Given the description of an element on the screen output the (x, y) to click on. 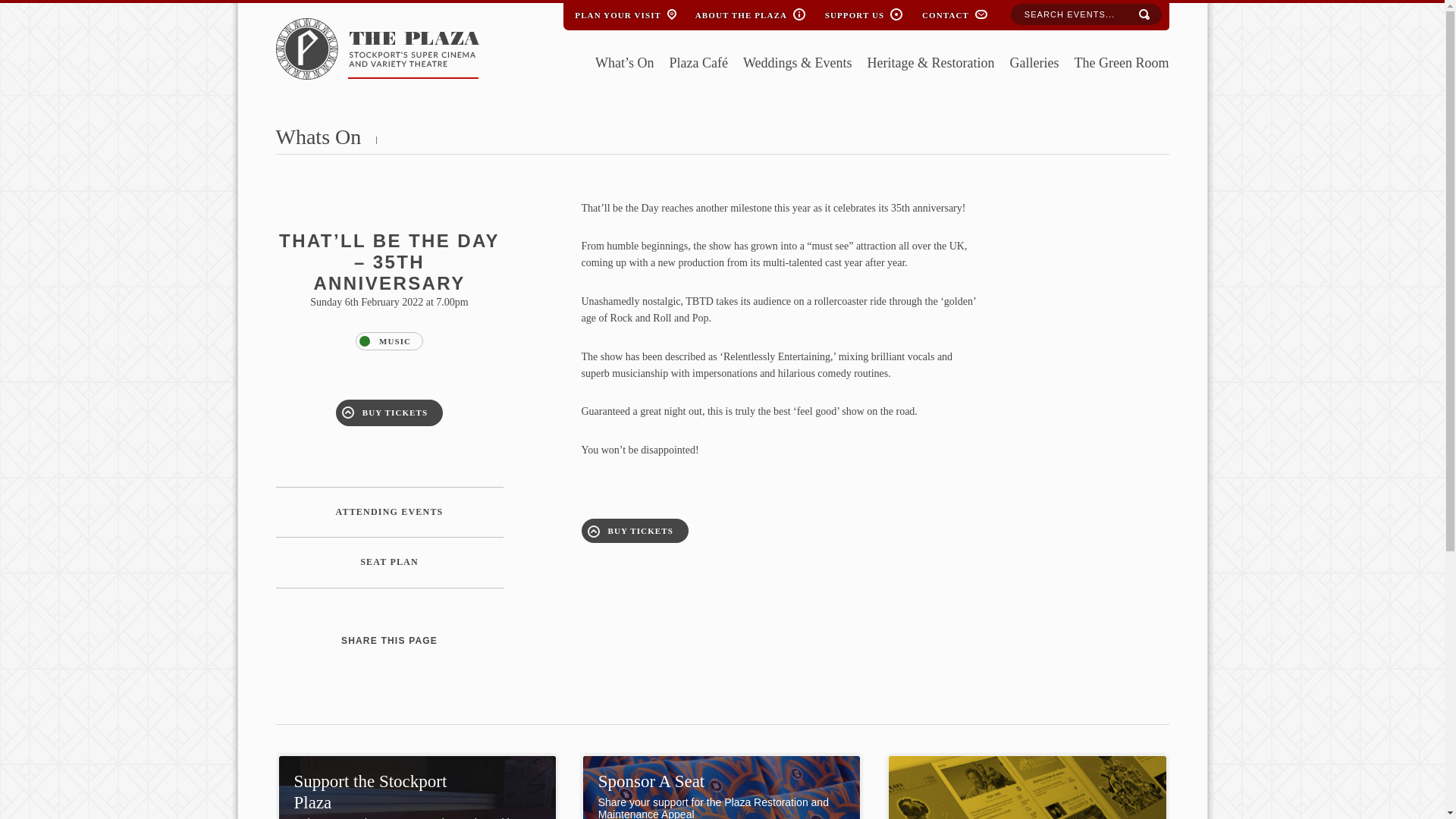
ABOUT THE PLAZA (740, 12)
CONTACT (945, 12)
BUY TICKETS (389, 412)
submit (1143, 15)
SUPPORT US (854, 12)
The Green Room (1121, 64)
ATTENDING EVENTS (389, 512)
PLAN YOUR VISIT (617, 12)
submit (1143, 15)
MUSIC (389, 341)
Whats On (318, 136)
SEAT PLAN (389, 562)
Galleries (1034, 64)
